Given the description of an element on the screen output the (x, y) to click on. 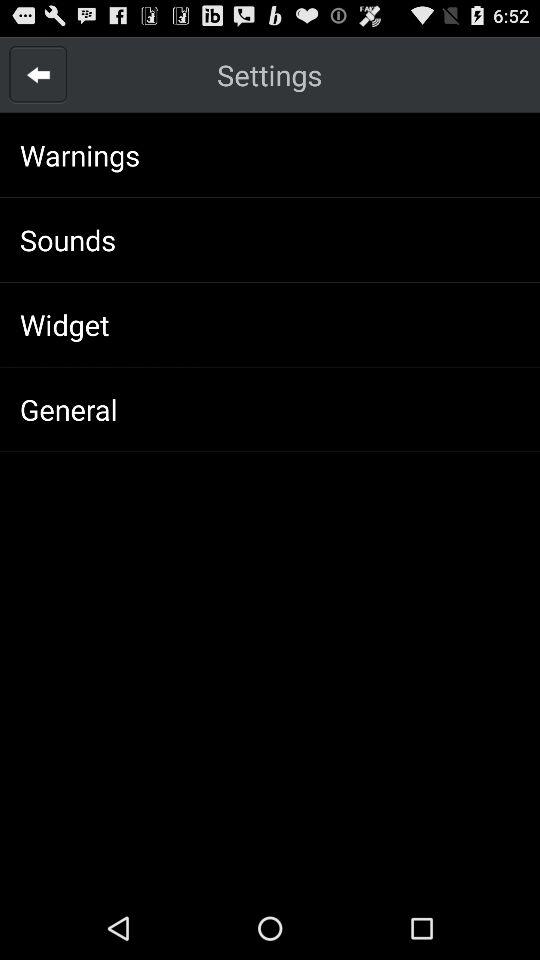
flip until widget item (64, 324)
